Given the description of an element on the screen output the (x, y) to click on. 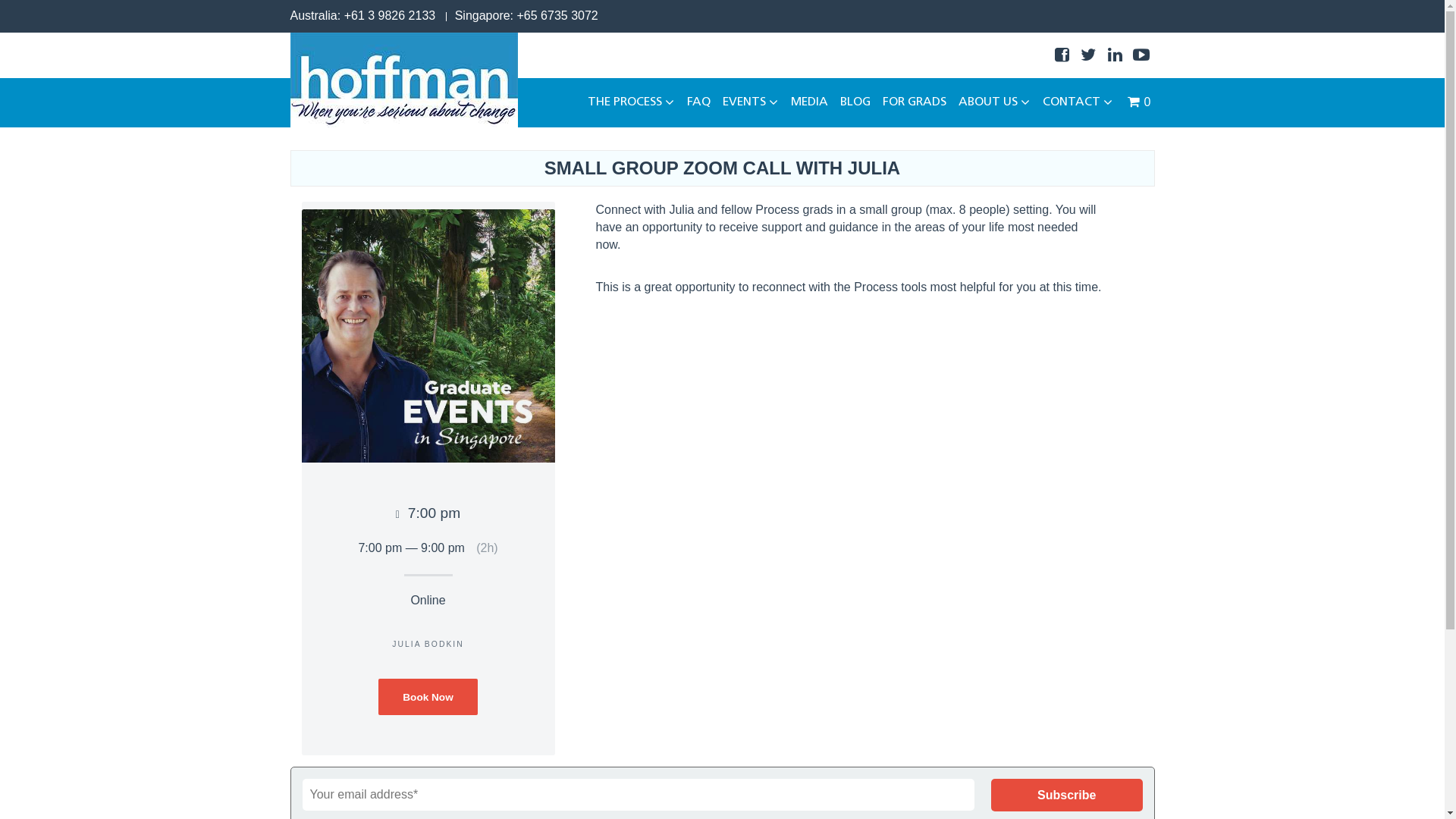
FAQ Element type: text (698, 102)
THE PROCESS Element type: text (630, 102)
CONTACT Element type: text (1077, 102)
Subscribe Element type: text (1066, 794)
BLOG Element type: text (855, 102)
0 Element type: text (1136, 102)
+65 6735 3072 Element type: text (557, 15)
FOR GRADS Element type: text (914, 102)
Hoffman Process Australia Element type: hover (403, 79)
MEDIA Element type: text (809, 102)
EVENTS Element type: text (750, 102)
+61 3 9826 2133 Element type: text (390, 15)
ABOUT US Element type: text (994, 102)
SKIP TO CONTENT Element type: text (638, 102)
Book Now Element type: text (427, 696)
